Given the description of an element on the screen output the (x, y) to click on. 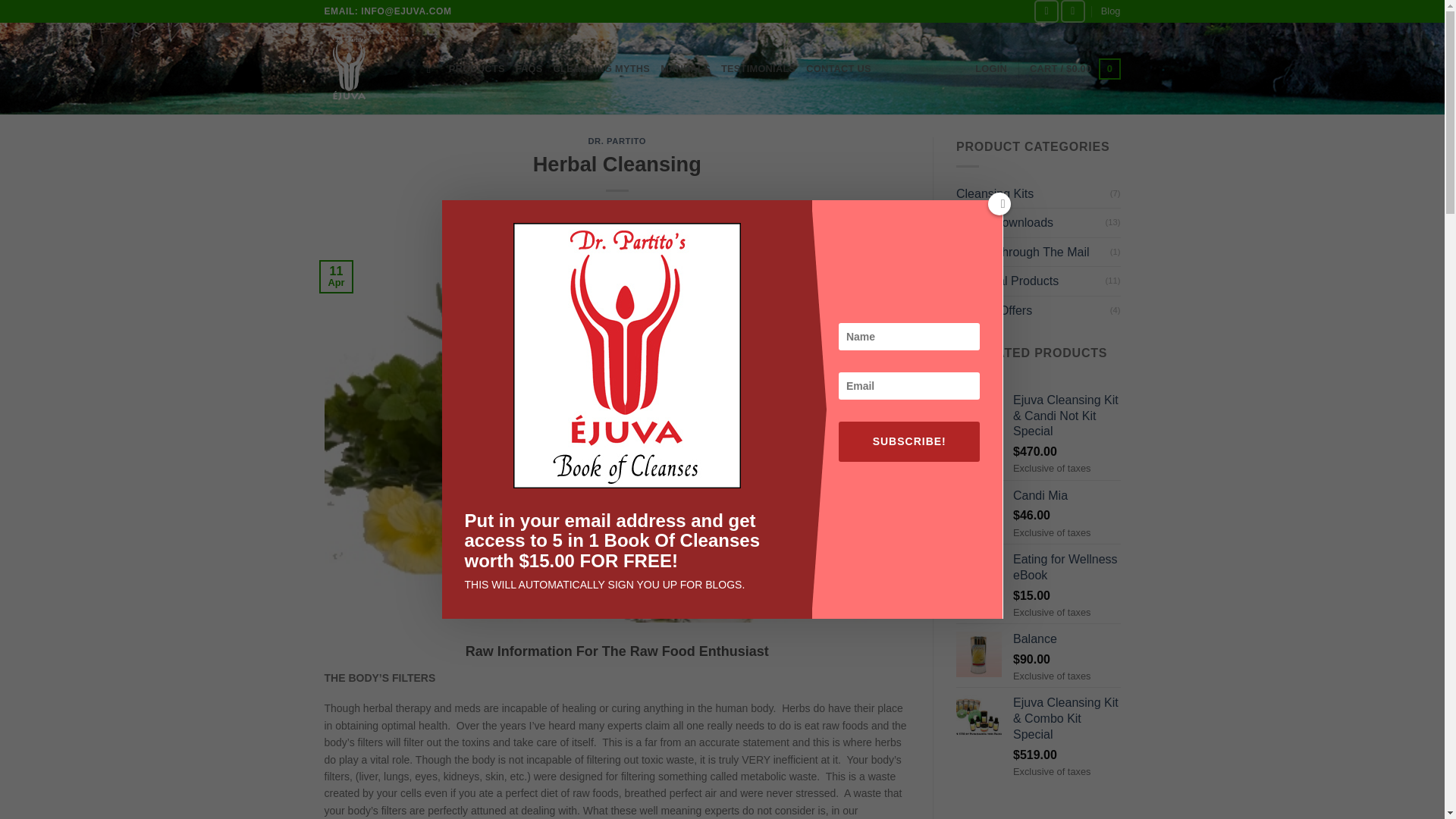
LOGIN (991, 69)
MANUALS (685, 69)
Follow on Instagram (1072, 11)
Follow on Facebook (1045, 11)
CLEANSING MYTHS (601, 69)
TESTIMONIALS (757, 69)
CONTACT US (838, 69)
APRIL 11, 2019 (614, 207)
Cart (1074, 68)
DR. PARTITO (617, 140)
FAQS (529, 69)
CHARLES (686, 207)
PRODUCTS (476, 69)
